Given the description of an element on the screen output the (x, y) to click on. 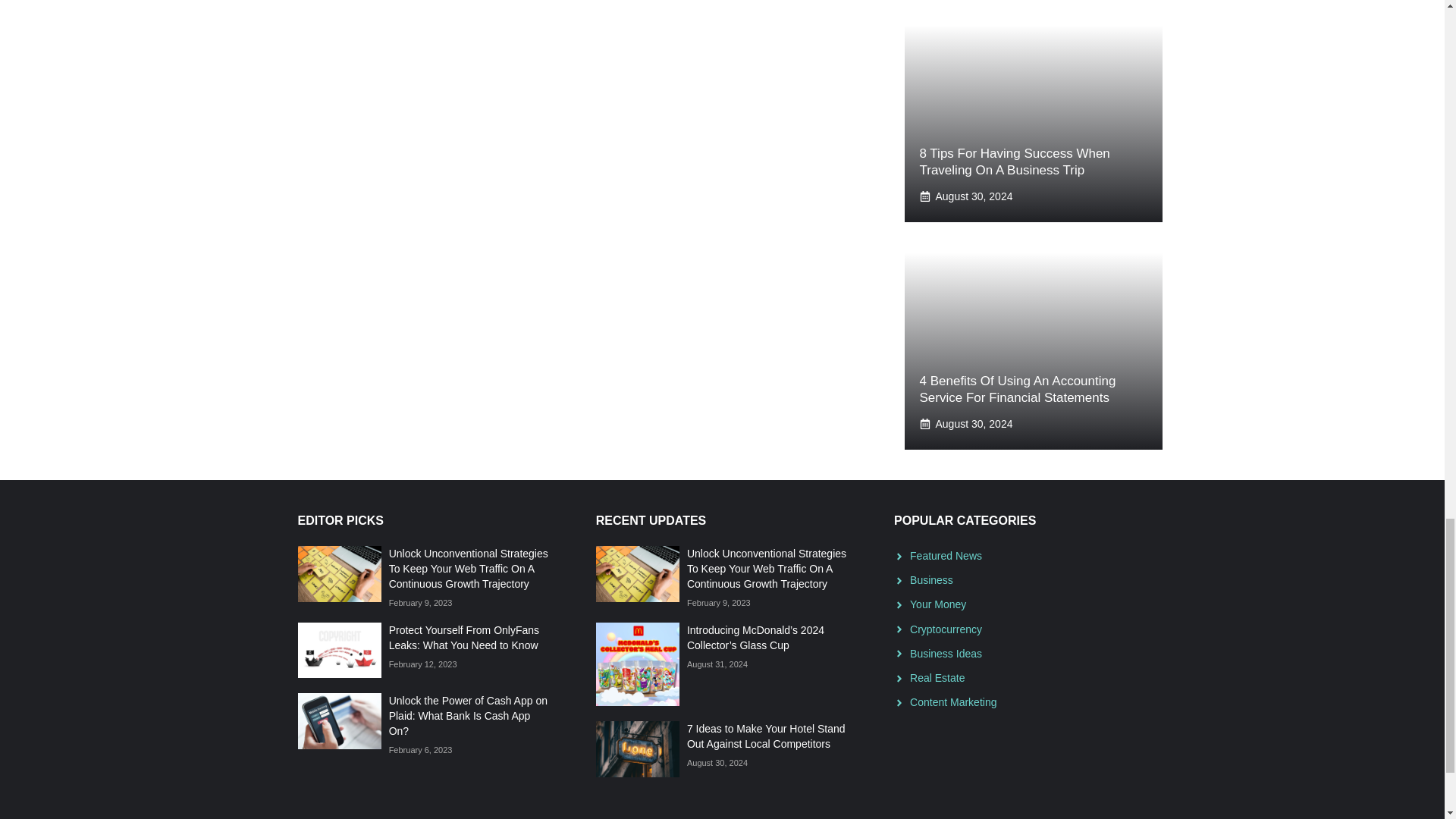
Featured News (945, 555)
Business (931, 580)
8 Tips For Having Success When Traveling On A Business Trip (1013, 161)
Protect Yourself From OnlyFans Leaks: What You Need to Know (463, 637)
